Given the description of an element on the screen output the (x, y) to click on. 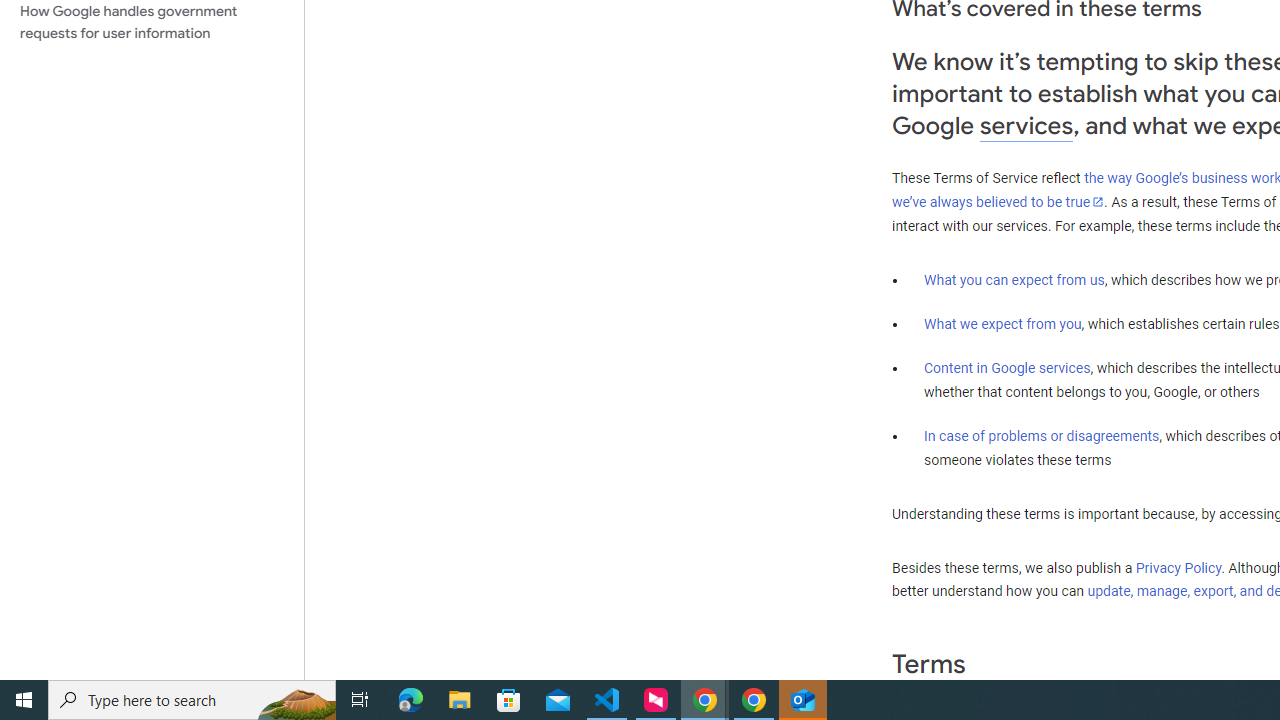
What we expect from you (1002, 323)
Privacy Policy (1178, 567)
What you can expect from us (1014, 279)
services (1026, 125)
In case of problems or disagreements (1041, 435)
Content in Google services (1007, 368)
